Given the description of an element on the screen output the (x, y) to click on. 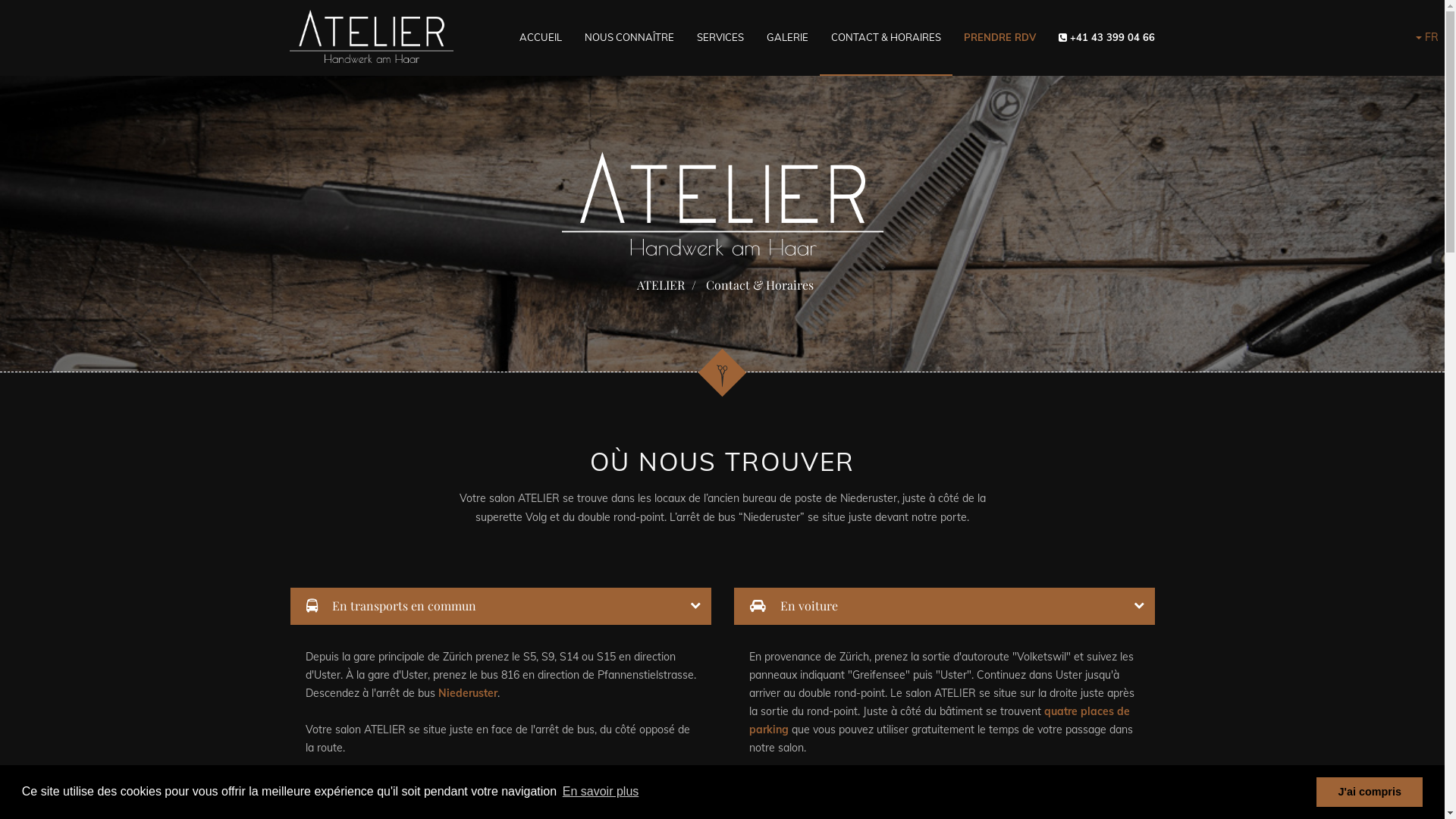
+41 43 399 04 66 Element type: text (1112, 37)
SERVICES Element type: text (720, 37)
FR Element type: text (1426, 37)
En savoir plus Element type: text (600, 791)
GALERIE Element type: text (787, 37)
ACCUEIL Element type: text (540, 37)
ATELIER Uster Element type: hover (371, 37)
J'ai compris Element type: text (1369, 791)
CONTACT & HORAIRES Element type: text (885, 37)
ATELIER Element type: text (660, 284)
PRENDRE RDV Element type: text (999, 37)
